Given the description of an element on the screen output the (x, y) to click on. 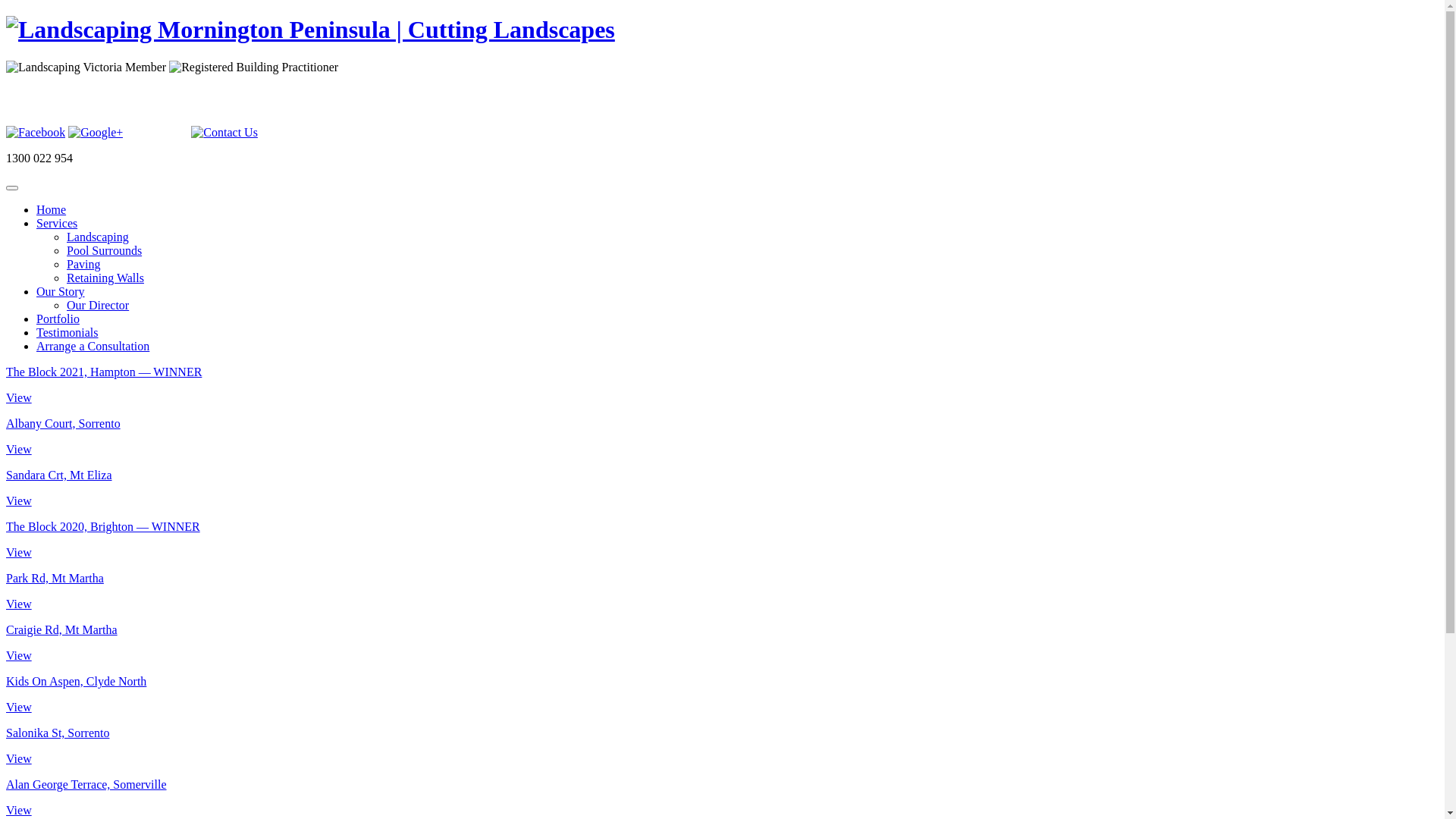
Home Element type: text (50, 209)
Paving Element type: text (83, 263)
Alan George Terrace, Somerville
View Element type: text (722, 797)
Contact Us Element type: hover (224, 132)
Services Element type: text (56, 222)
Portfolio Element type: text (57, 318)
Facebook Element type: hover (35, 132)
Google+ Element type: hover (95, 132)
Albany Court, Sorrento
View Element type: text (722, 436)
Instagram Element type: hover (156, 105)
Sandara Crt, Mt Eliza
View Element type: text (722, 488)
Craigie Rd, Mt Martha
View Element type: text (722, 642)
Park Rd, Mt Martha
View Element type: text (722, 591)
Our Story Element type: text (60, 291)
Testimonials Element type: text (67, 332)
Our Director Element type: text (97, 304)
Arrange a Consultation Element type: text (92, 345)
Landscaping Element type: text (97, 236)
Pool Surrounds Element type: text (103, 250)
Salonika St, Sorrento
View Element type: text (722, 745)
Kids On Aspen, Clyde North
View Element type: text (722, 694)
Retaining Walls Element type: text (105, 277)
